Given the description of an element on the screen output the (x, y) to click on. 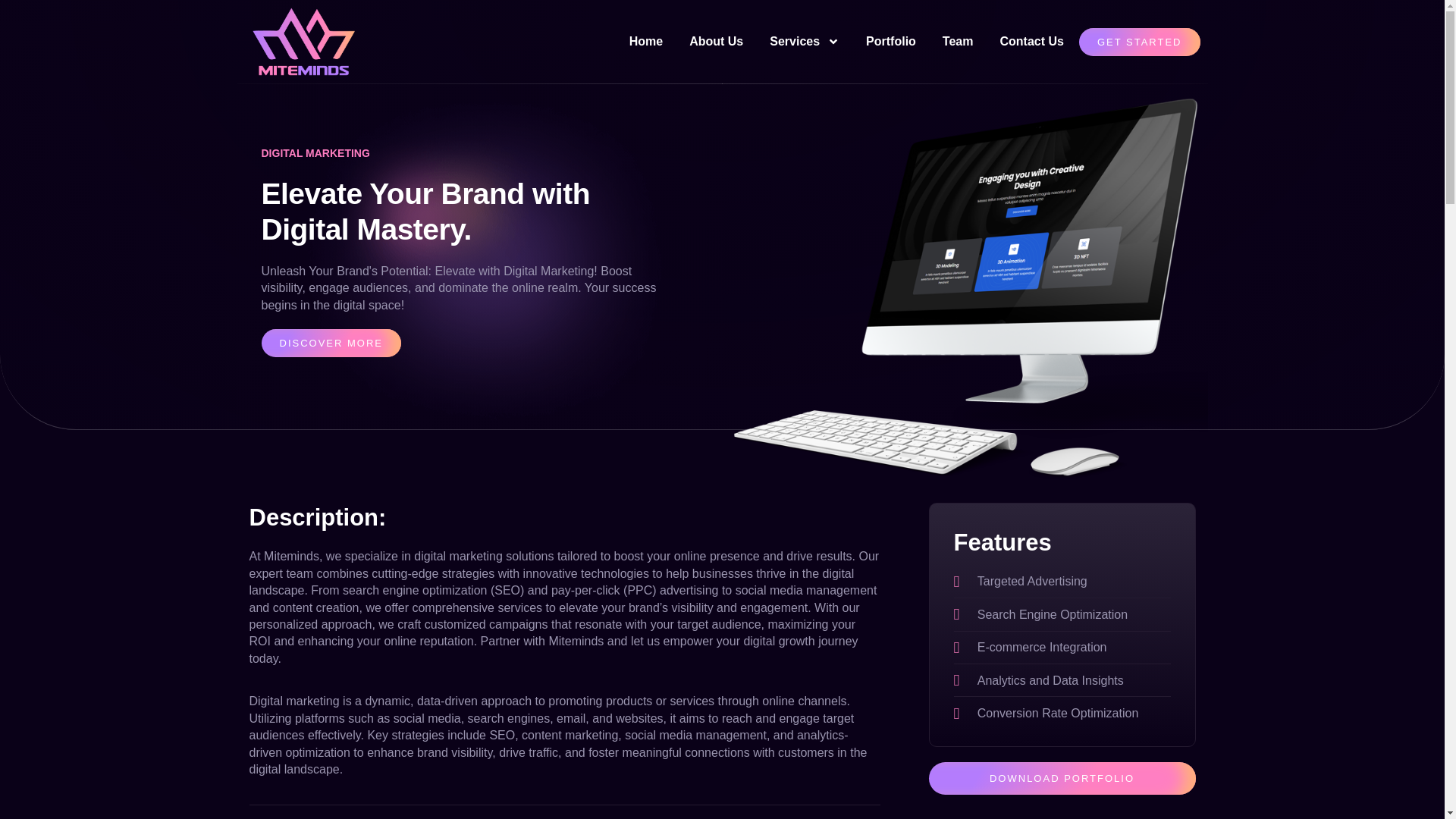
Contact Us (1030, 41)
Services (805, 41)
GET STARTED (1138, 41)
